Given the description of an element on the screen output the (x, y) to click on. 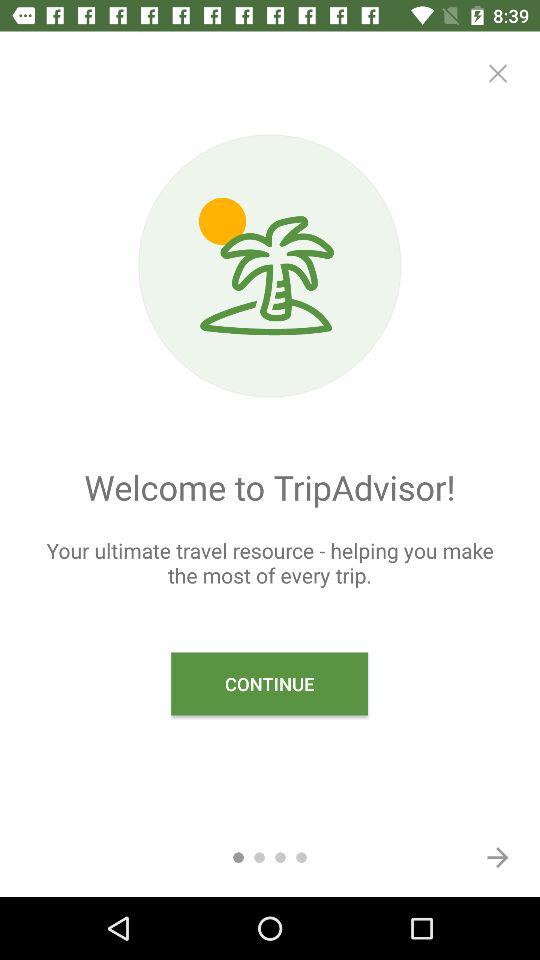
choose continue item (269, 683)
